Given the description of an element on the screen output the (x, y) to click on. 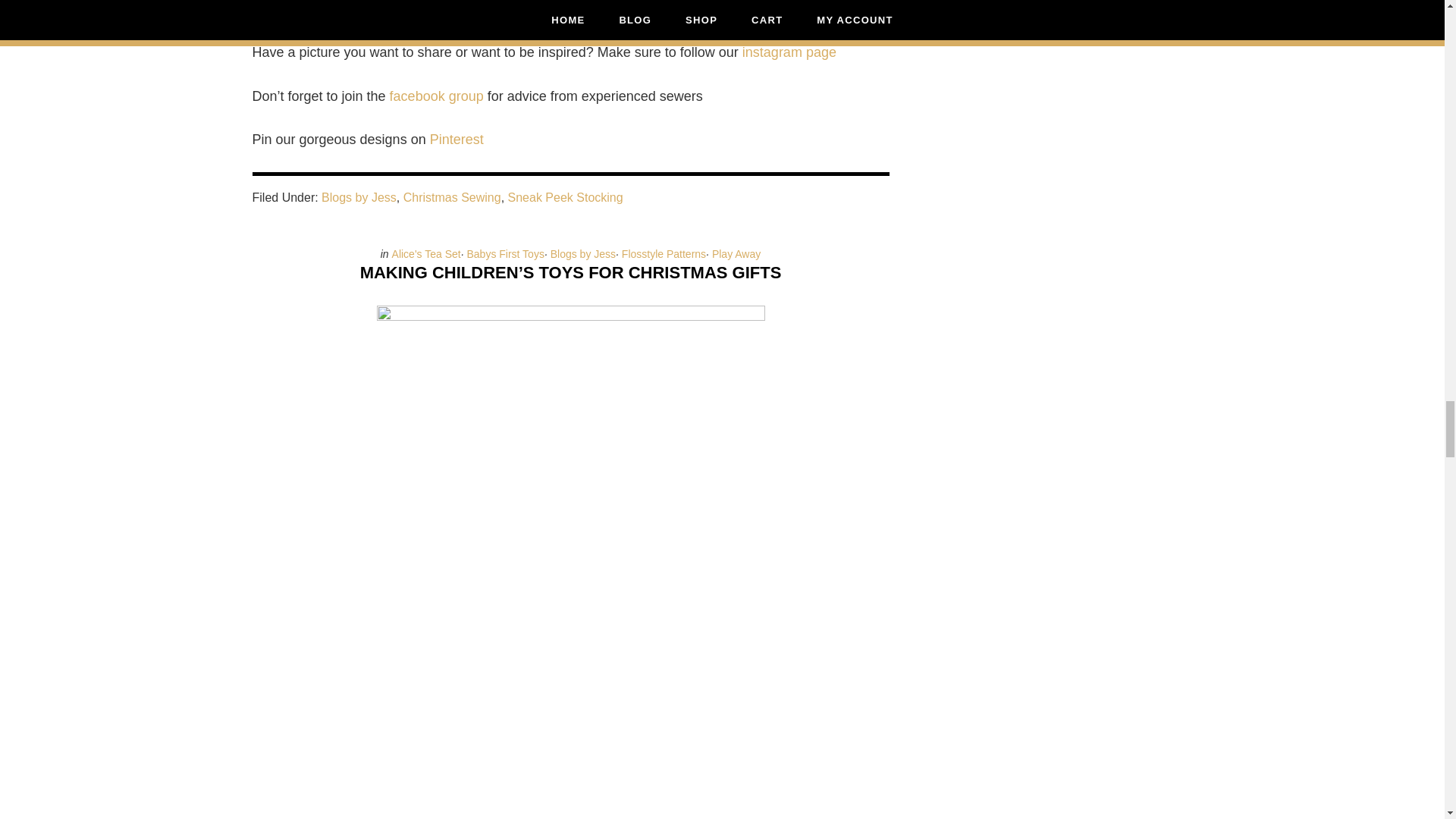
Blogs by Jess (358, 196)
instagram page (788, 52)
Babys First Toys (504, 254)
Play Away (735, 254)
Blogs by Jess (582, 254)
Sneak Peek Stocking (565, 196)
Pinterest (456, 139)
Flosstyle Patterns (663, 254)
facebook group (436, 96)
Christmas Sewing (451, 196)
